Given the description of an element on the screen output the (x, y) to click on. 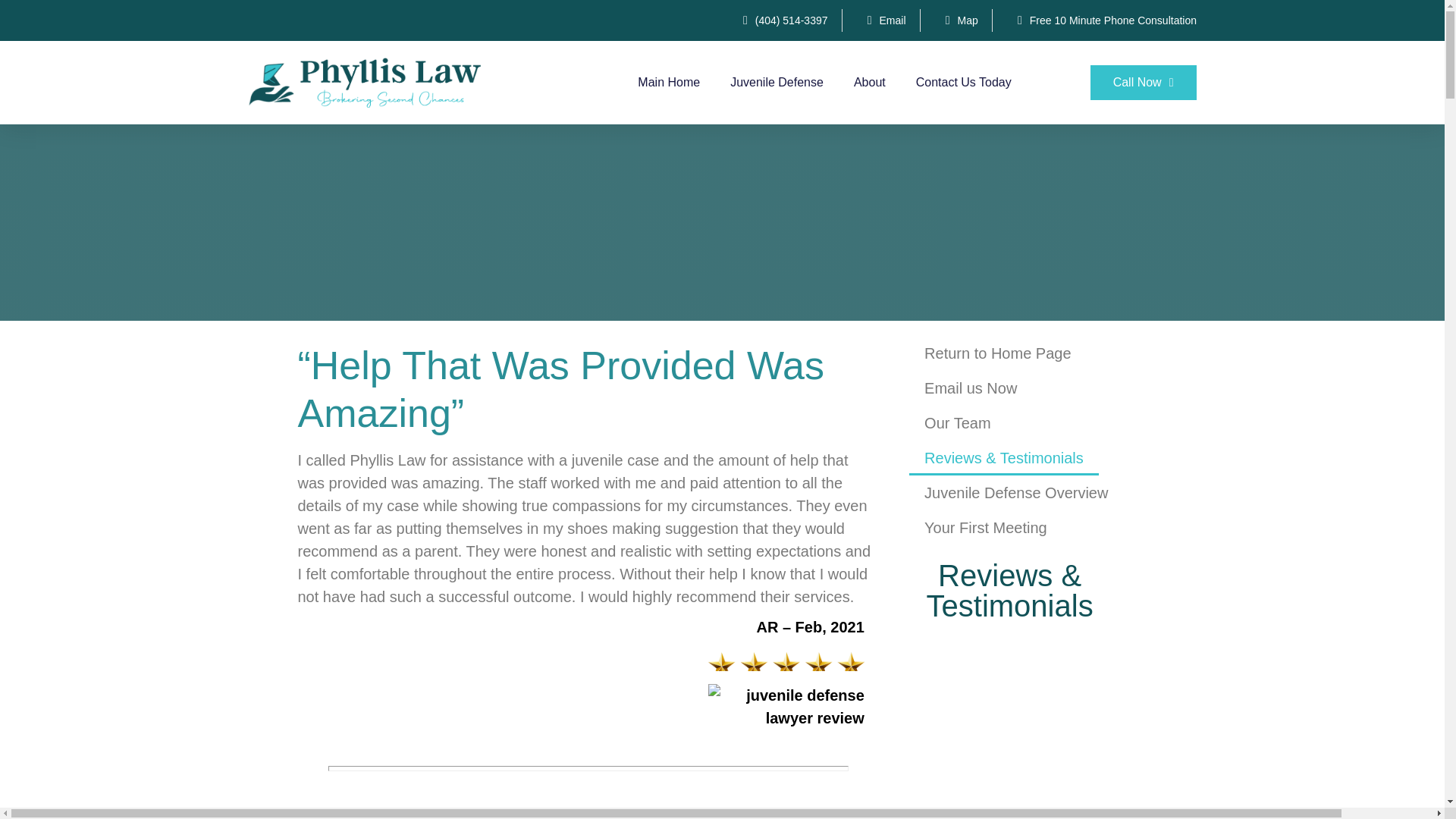
Juvenile Defense (777, 82)
Main Home (668, 82)
Map (956, 20)
Email (881, 20)
Contact Us Today (963, 82)
About (869, 82)
